Given the description of an element on the screen output the (x, y) to click on. 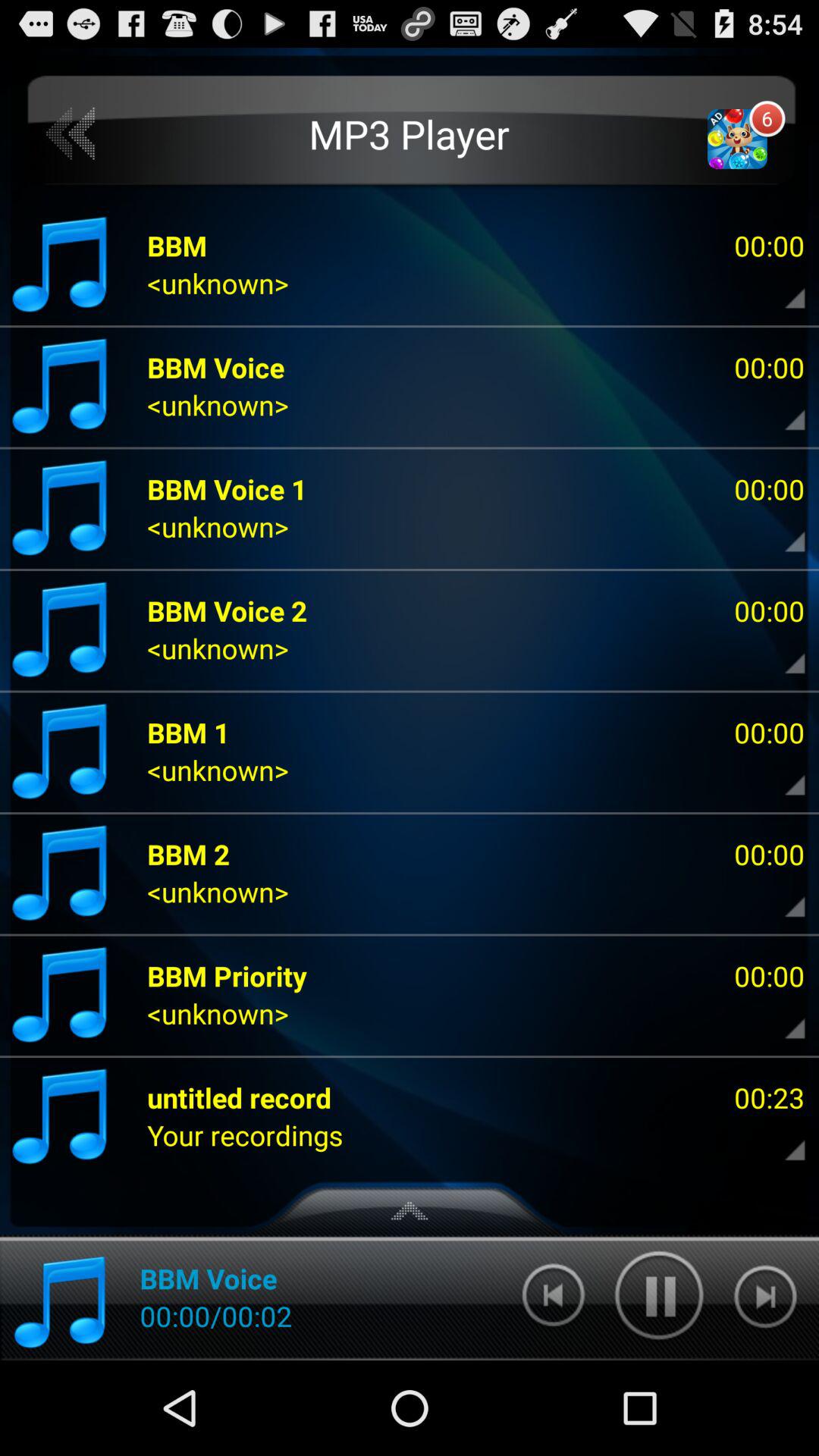
more info (782, 652)
